Given the description of an element on the screen output the (x, y) to click on. 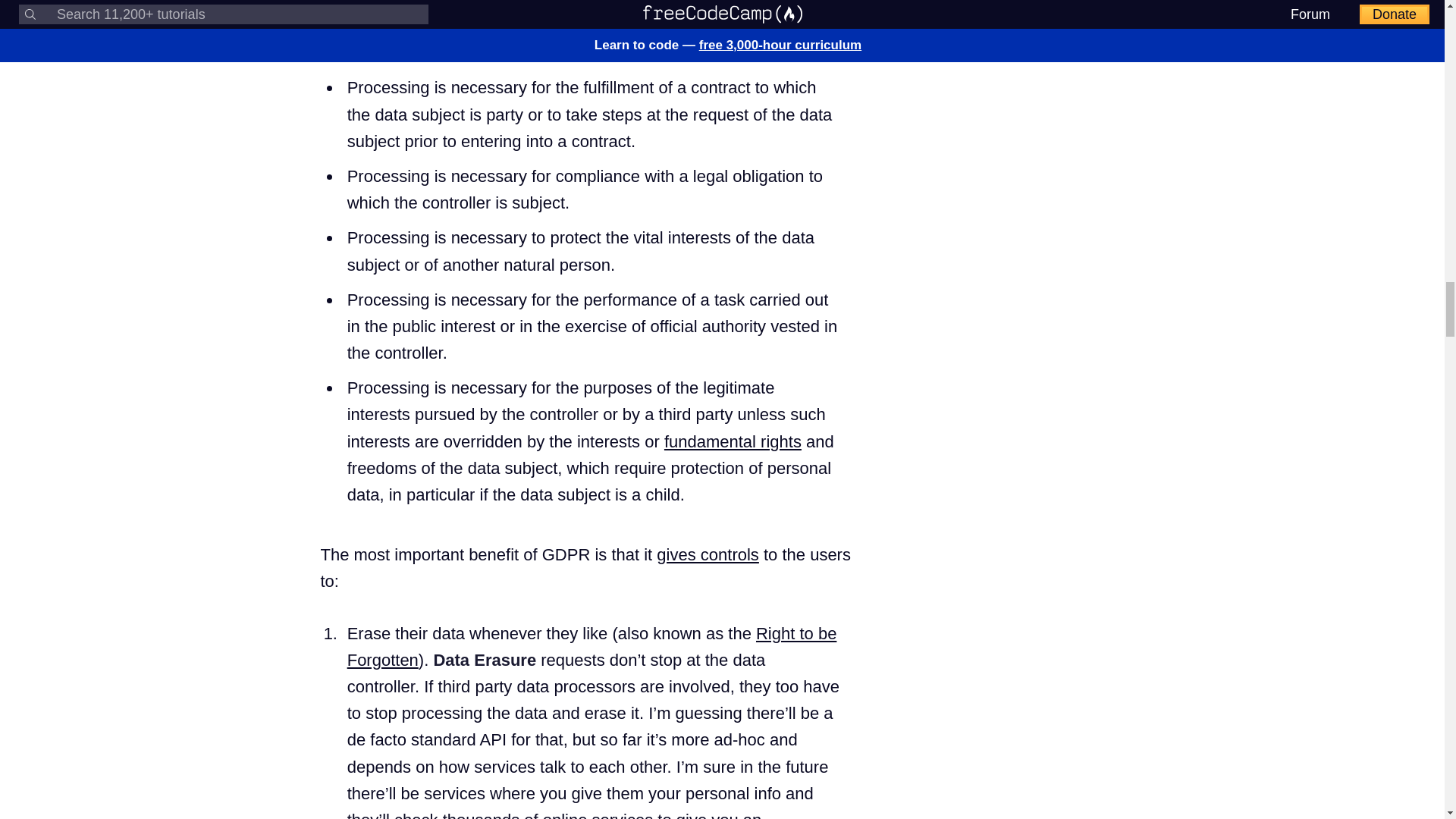
fundamental rights (732, 441)
gives controls (707, 554)
Right to be Forgotten (592, 646)
